Given the description of an element on the screen output the (x, y) to click on. 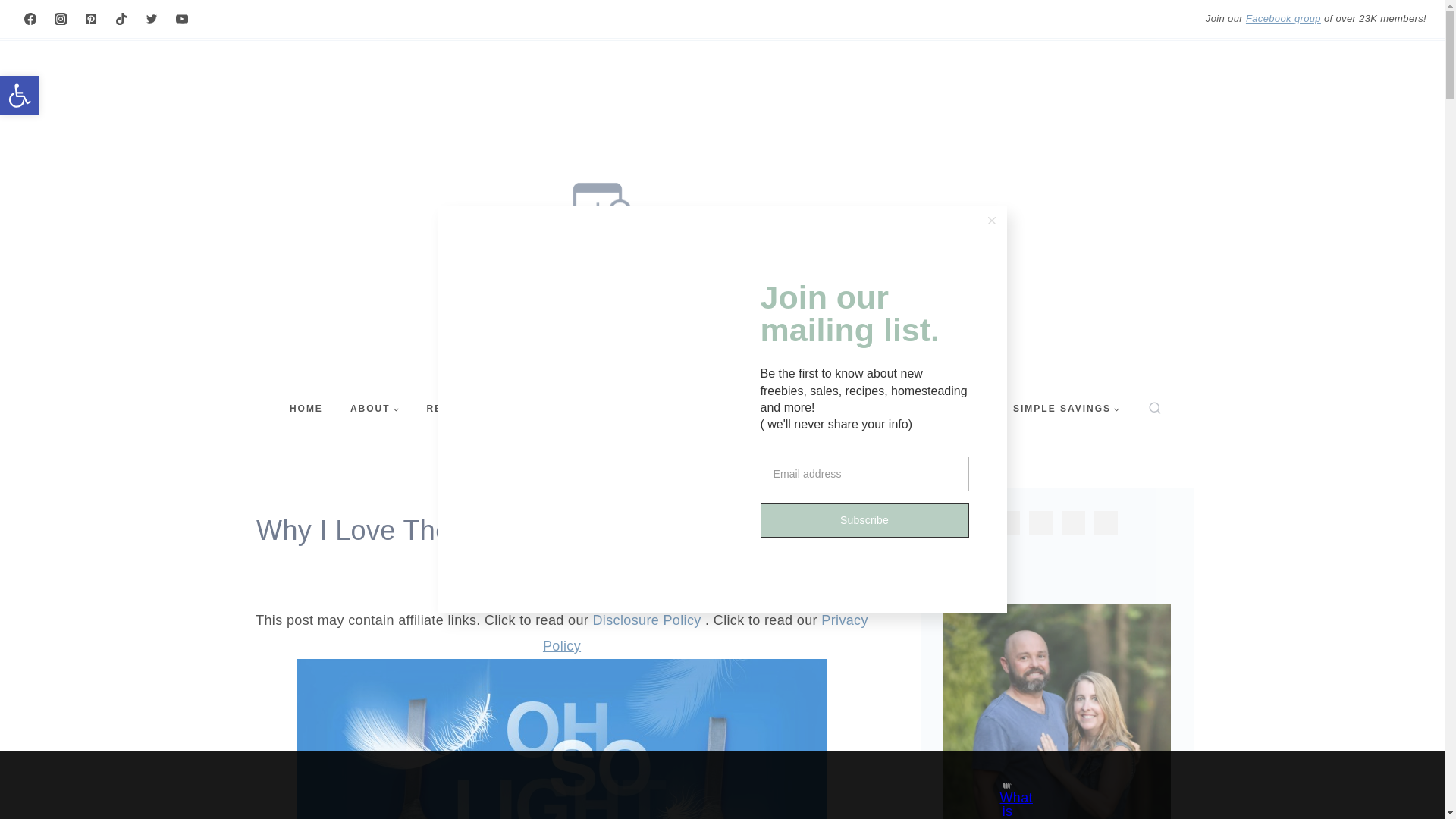
HOME (306, 408)
ABOUT (374, 408)
Facebook group (19, 95)
Accessibility Tools (1283, 18)
Accessibility Tools (19, 95)
RECIPES (19, 95)
